Given the description of an element on the screen output the (x, y) to click on. 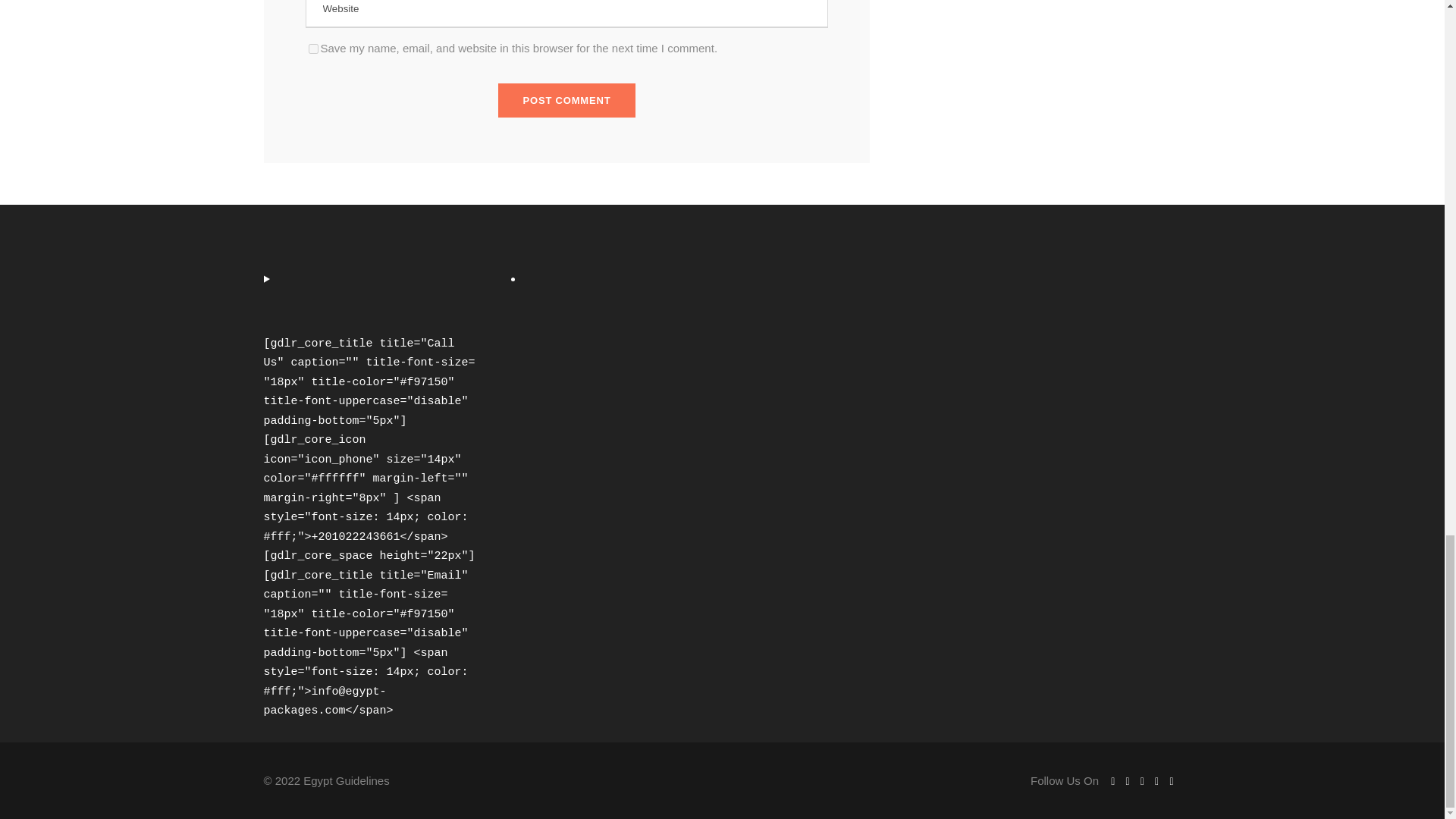
Post Comment (566, 100)
Post Comment (566, 100)
yes (312, 49)
